Given the description of an element on the screen output the (x, y) to click on. 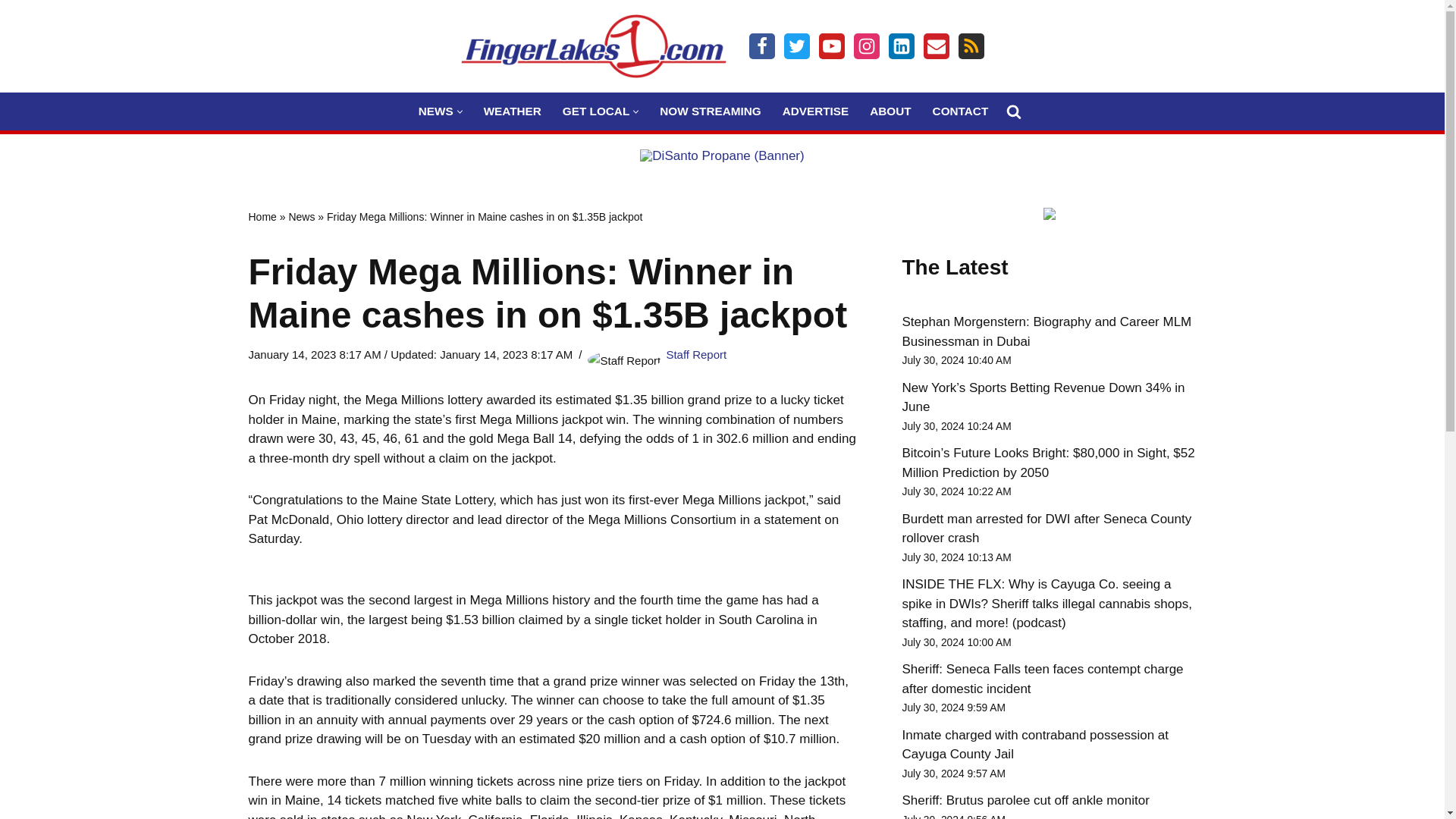
NEWS (435, 111)
ADVERTISE (815, 111)
WEATHER (512, 111)
Facebook (761, 45)
Skip to content (11, 31)
Feed (971, 45)
LinkIn (901, 45)
Youtube (831, 45)
Posts by Staff Report (695, 354)
Email Us (936, 45)
GET LOCAL (595, 111)
NOW STREAMING (709, 111)
ABOUT (890, 111)
Twitter (796, 45)
Instagram (866, 45)
